Given the description of an element on the screen output the (x, y) to click on. 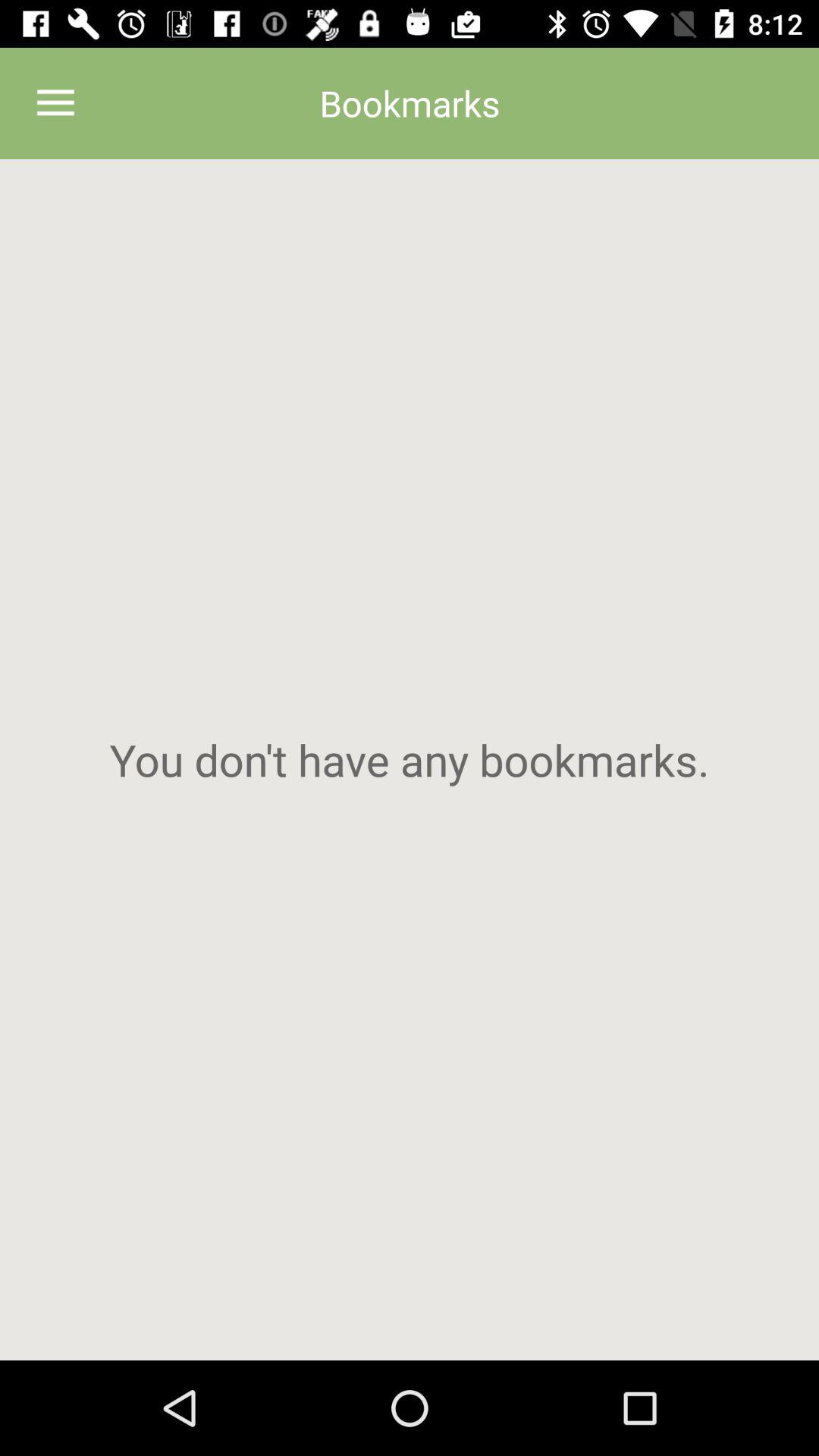
launch item next to the bookmarks icon (55, 103)
